Given the description of an element on the screen output the (x, y) to click on. 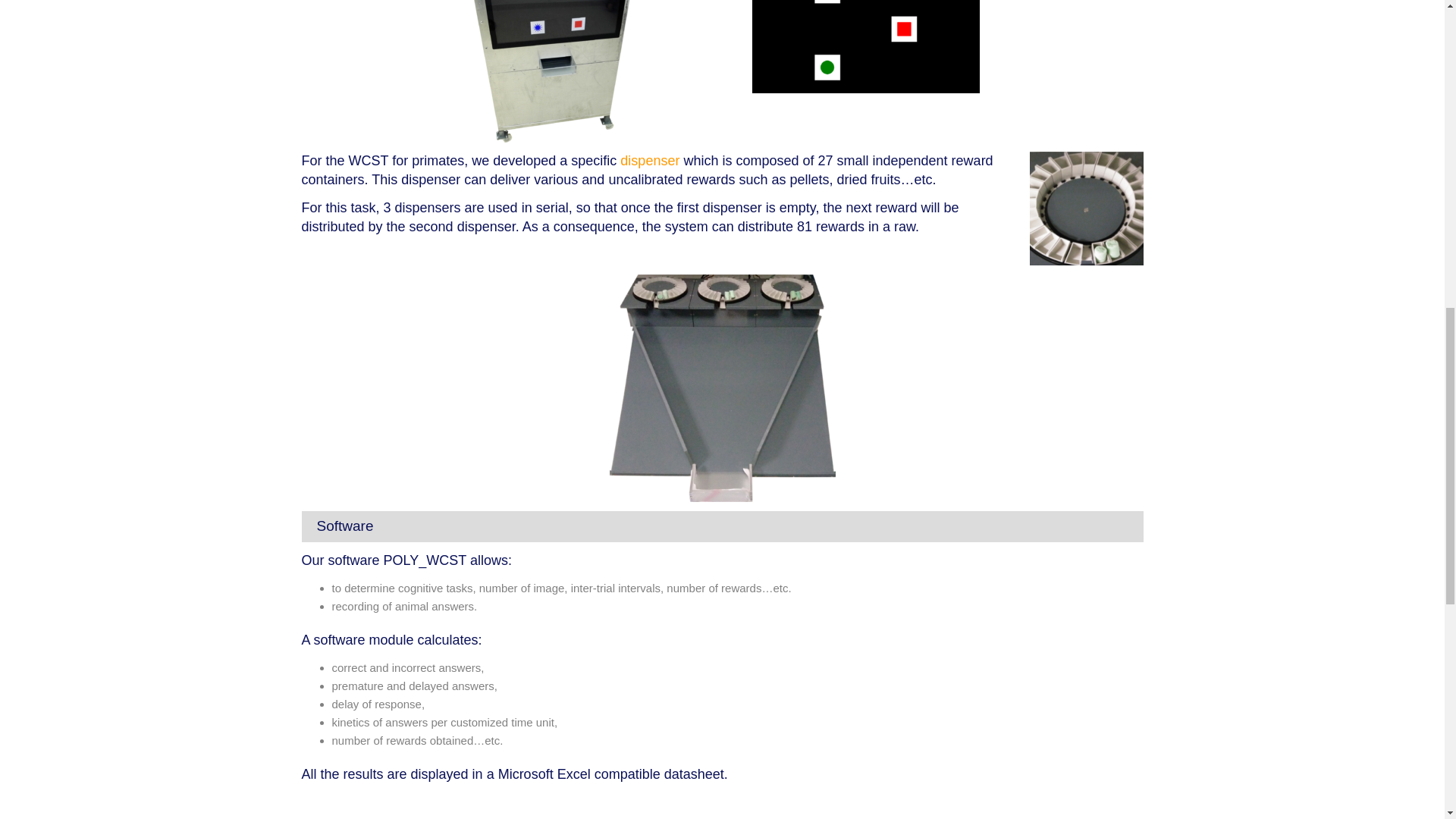
specific dispenser (624, 160)
